Given the description of an element on the screen output the (x, y) to click on. 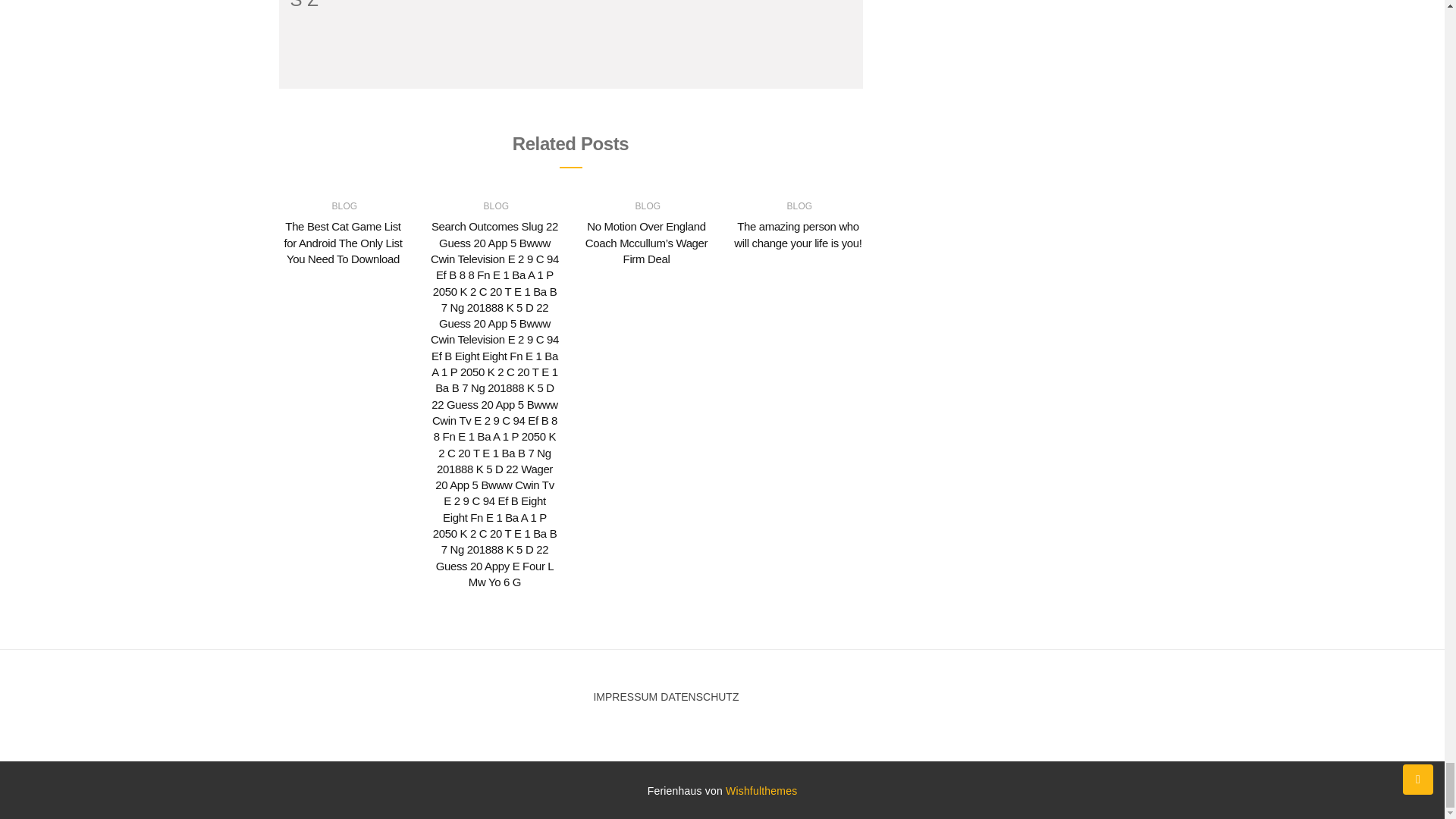
The amazing person who will change your life is you! (797, 234)
BLOG (343, 205)
BLOG (647, 205)
BLOG (495, 205)
The amazing person who will change your life is you! (797, 234)
BLOG (799, 205)
